Given the description of an element on the screen output the (x, y) to click on. 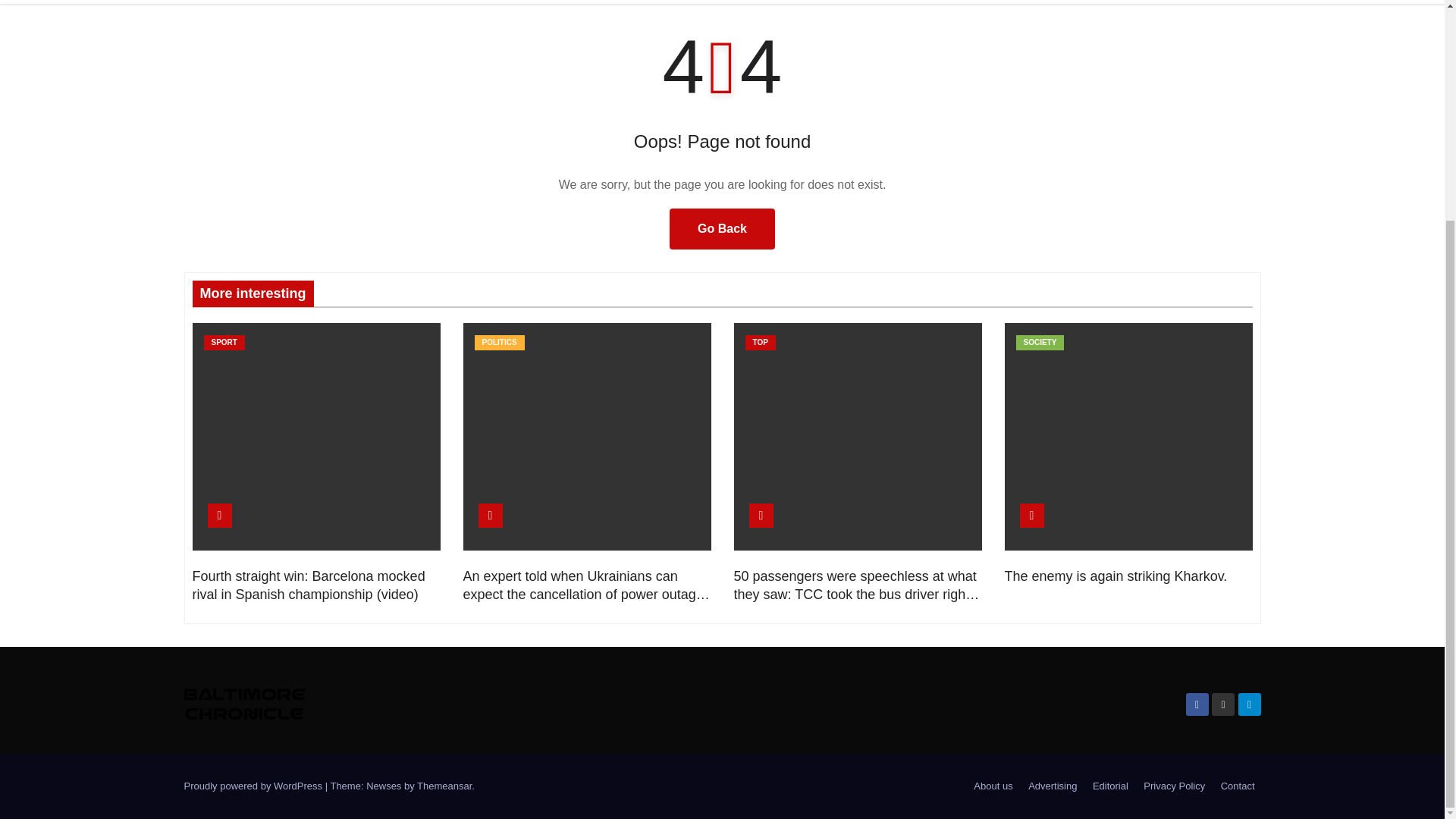
Privacy Policy (1174, 786)
Permalink to: The enemy is again striking Kharkov. (1115, 575)
SPORT (223, 342)
POLITICS (499, 342)
Go Back (721, 228)
About us (992, 786)
Advertising (1052, 786)
Editorial (1110, 786)
